Given the description of an element on the screen output the (x, y) to click on. 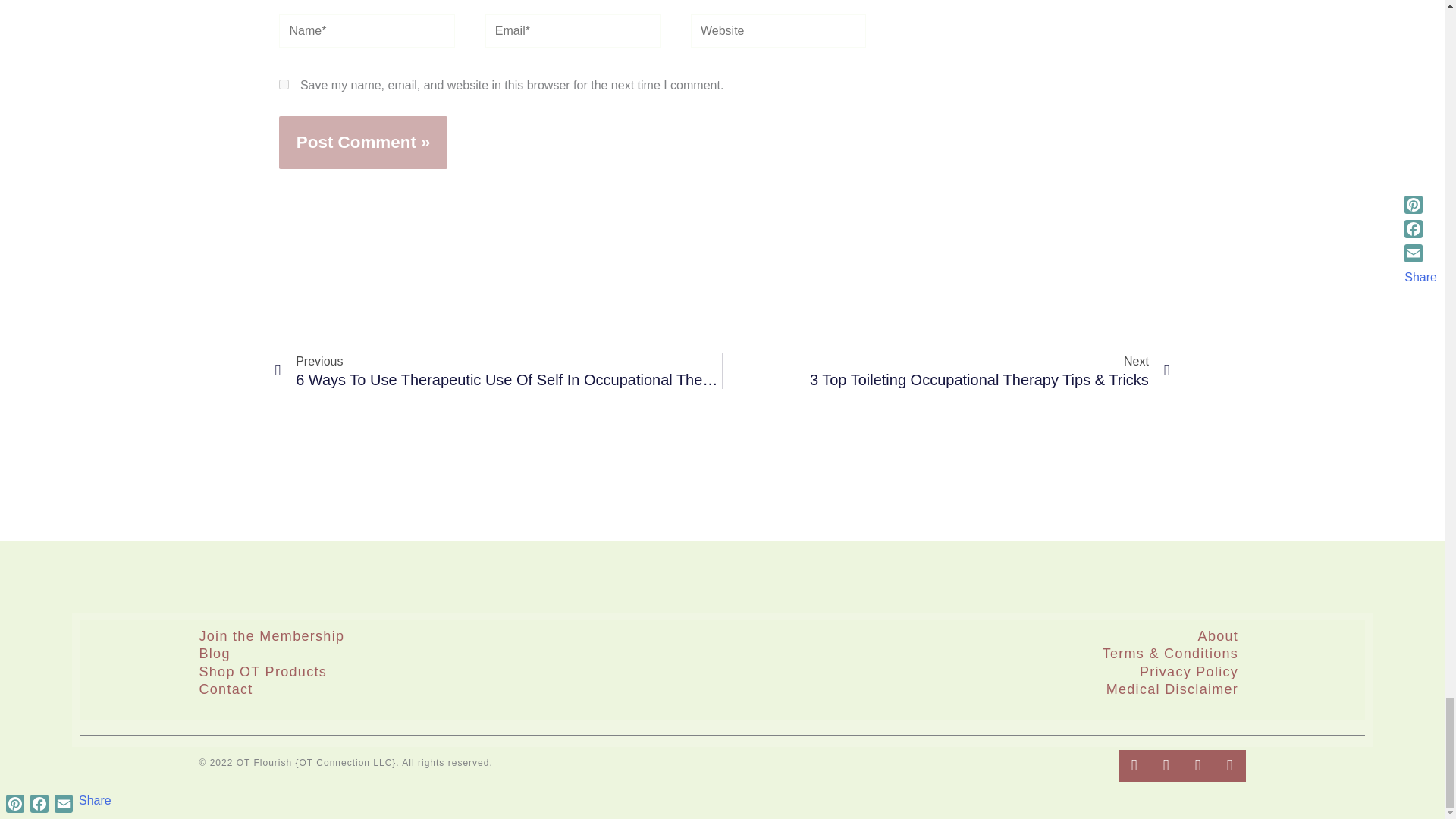
yes (283, 84)
